Given the description of an element on the screen output the (x, y) to click on. 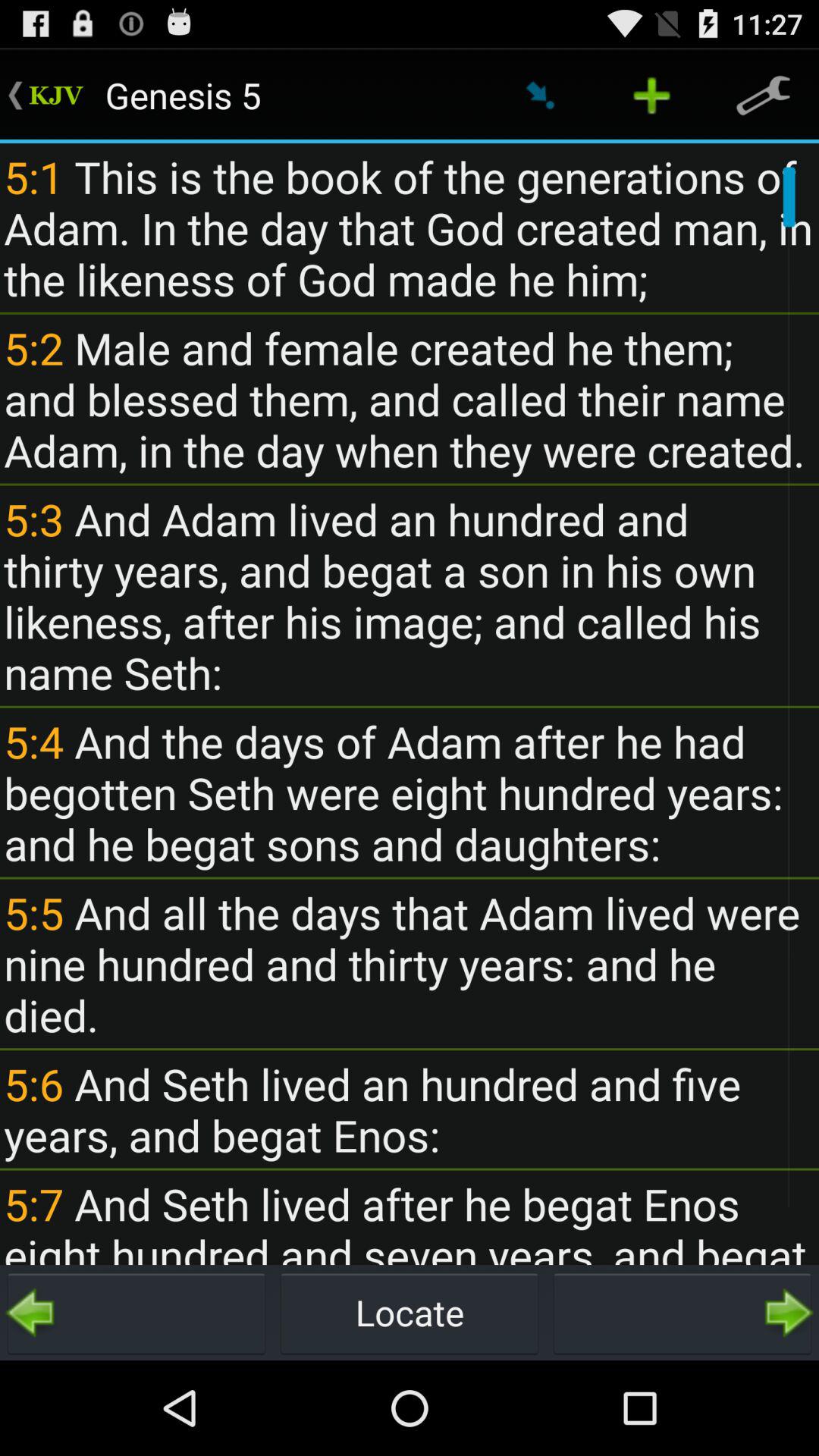
click app above the 5 1 this item (651, 95)
